Given the description of an element on the screen output the (x, y) to click on. 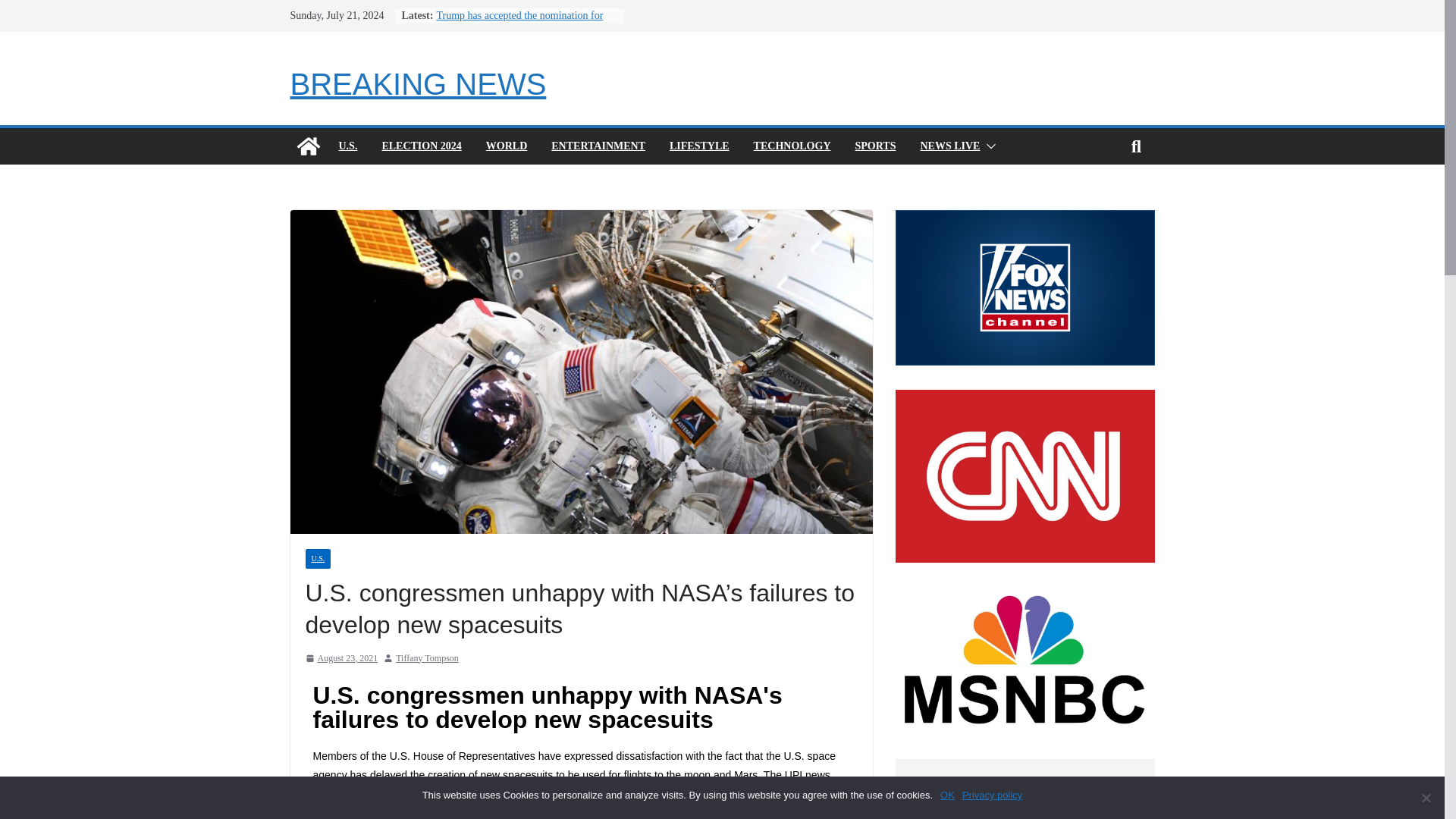
TECHNOLOGY (792, 146)
NEWS LIVE (949, 146)
August 23, 2021 (340, 658)
ENTERTAINMENT (598, 146)
WORLD (506, 146)
ELECTION 2024 (421, 146)
Advertisement (1024, 789)
BREAKING NEWS (417, 83)
U.S. (346, 146)
BREAKING NEWS (417, 83)
LIFESTYLE (699, 146)
SPORTS (876, 146)
U.S. (317, 558)
11:57 AM (340, 658)
Tiffany Tompson (427, 658)
